Given the description of an element on the screen output the (x, y) to click on. 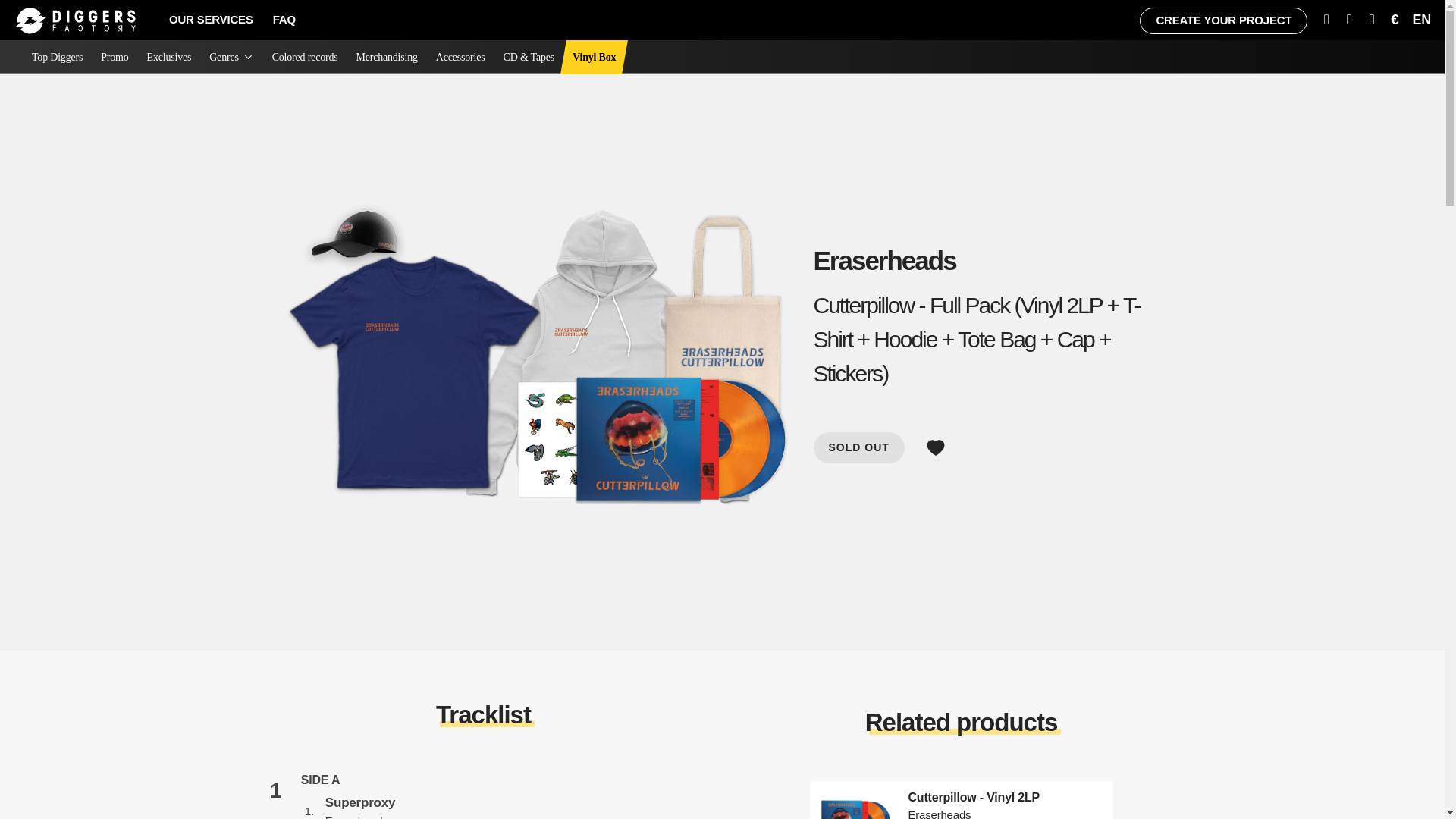
FAQ (284, 20)
CREATE YOUR PROJECT (1223, 20)
OUR SERVICES (210, 20)
